Given the description of an element on the screen output the (x, y) to click on. 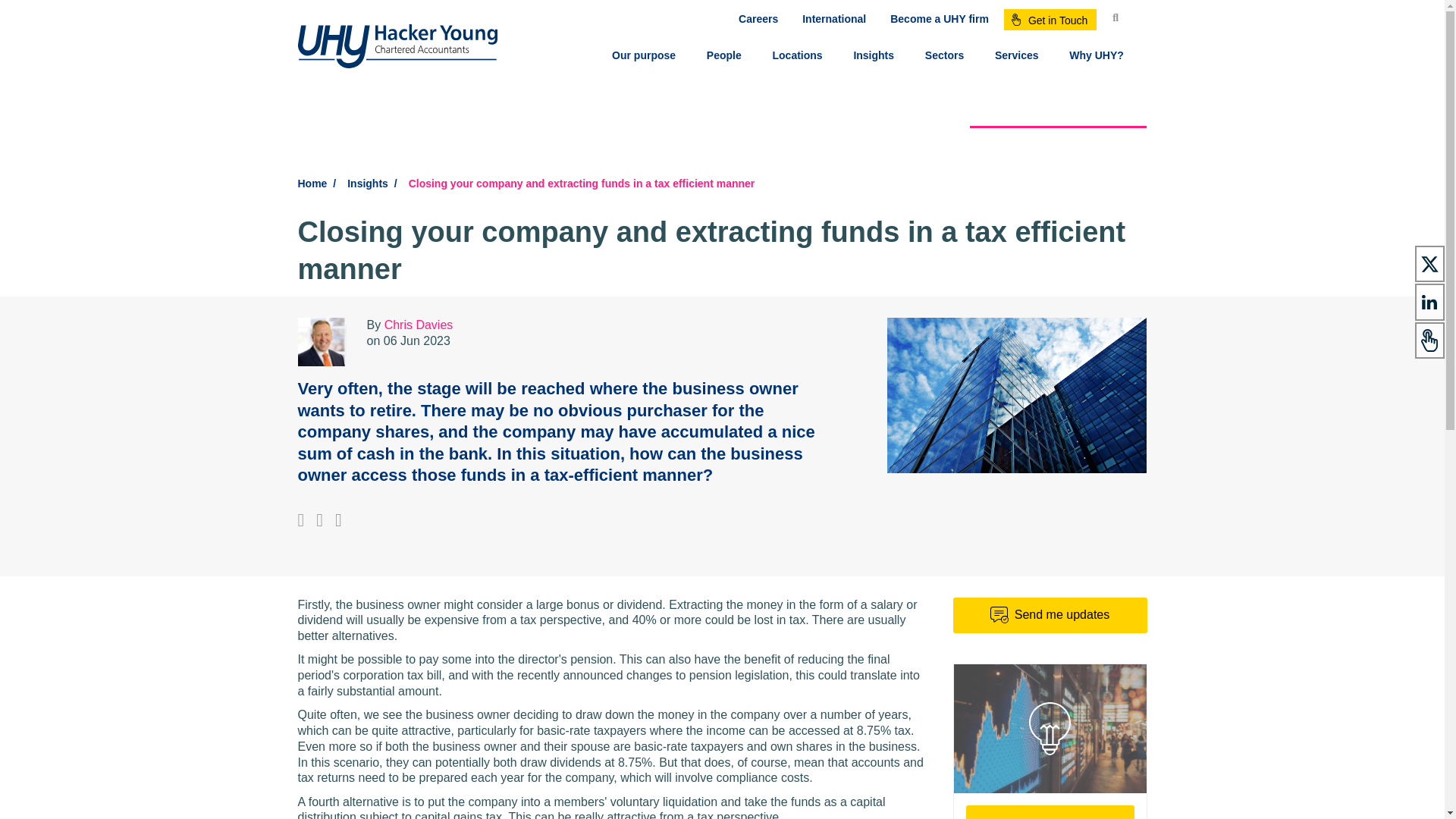
Get in Touch (1050, 19)
Become a UHY firm (938, 18)
People (723, 58)
Why UHY? (1096, 58)
Locations (797, 58)
Services (1016, 58)
Insights (873, 58)
International (834, 18)
Search (1120, 18)
